Given the description of an element on the screen output the (x, y) to click on. 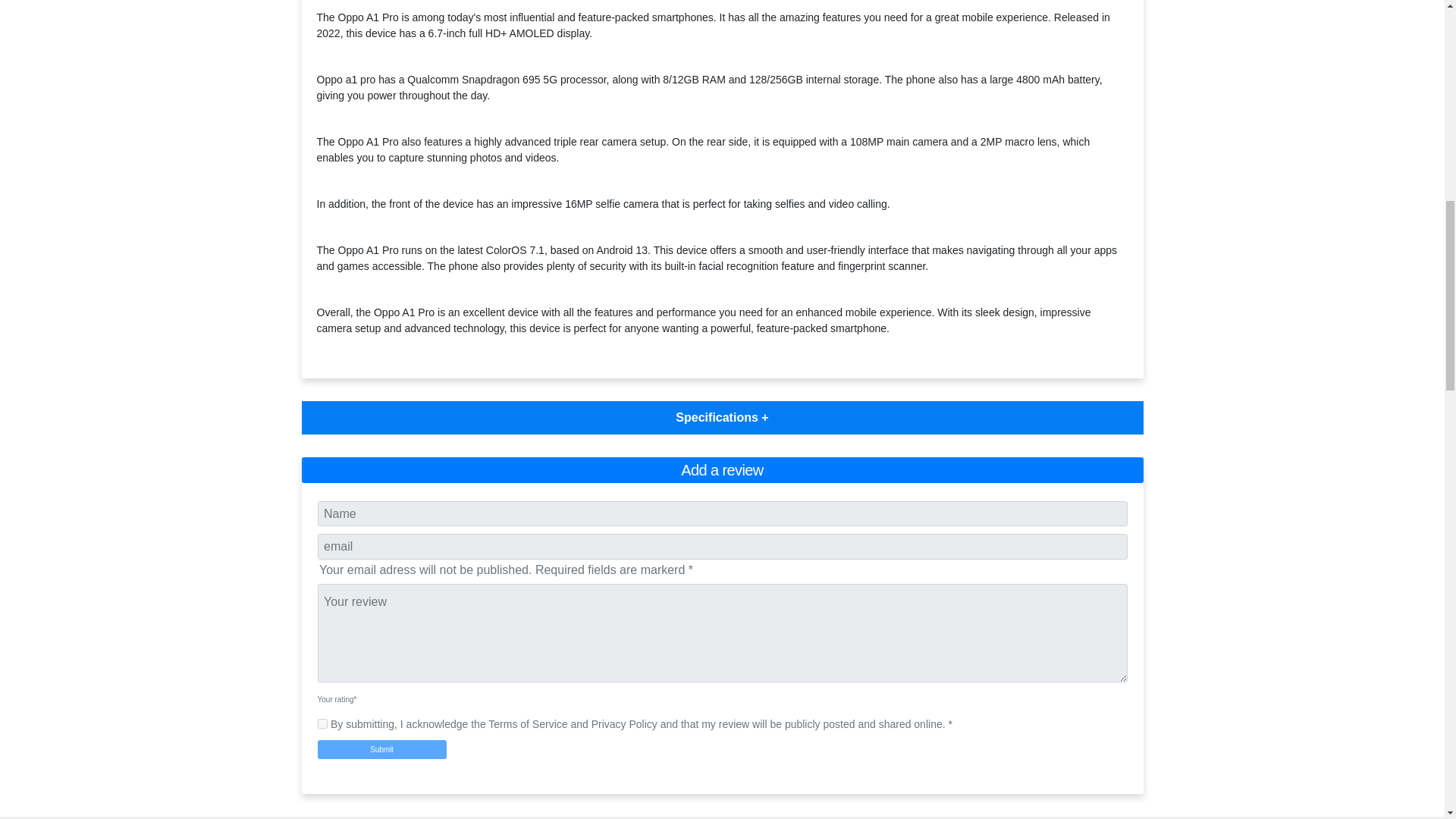
on (321, 723)
Submit (381, 749)
